Given the description of an element on the screen output the (x, y) to click on. 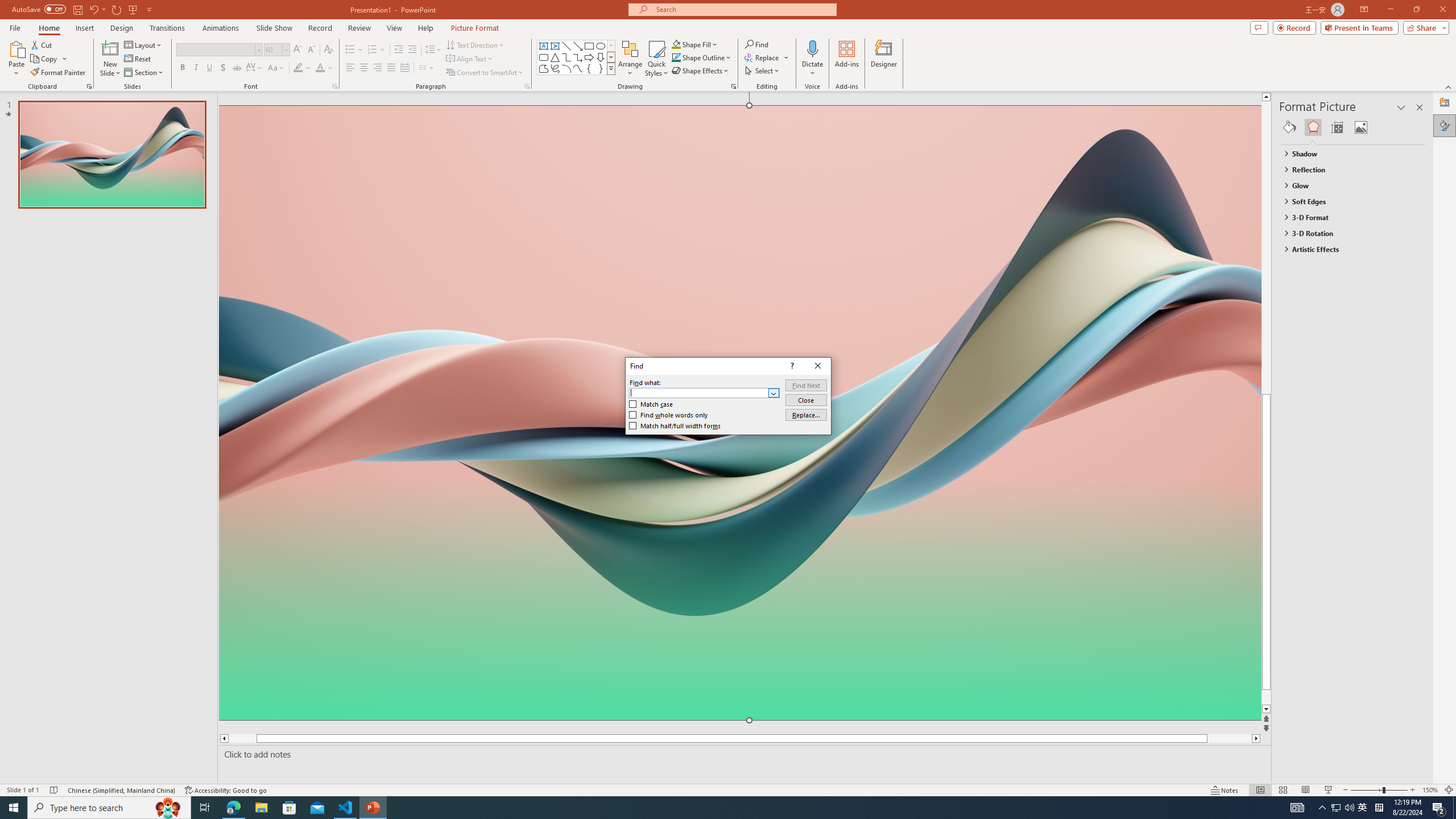
Picture Format (475, 28)
3-D Format (1347, 217)
Shape Fill Orange, Accent 2 (675, 44)
Zoom 150% (1430, 790)
